Given the description of an element on the screen output the (x, y) to click on. 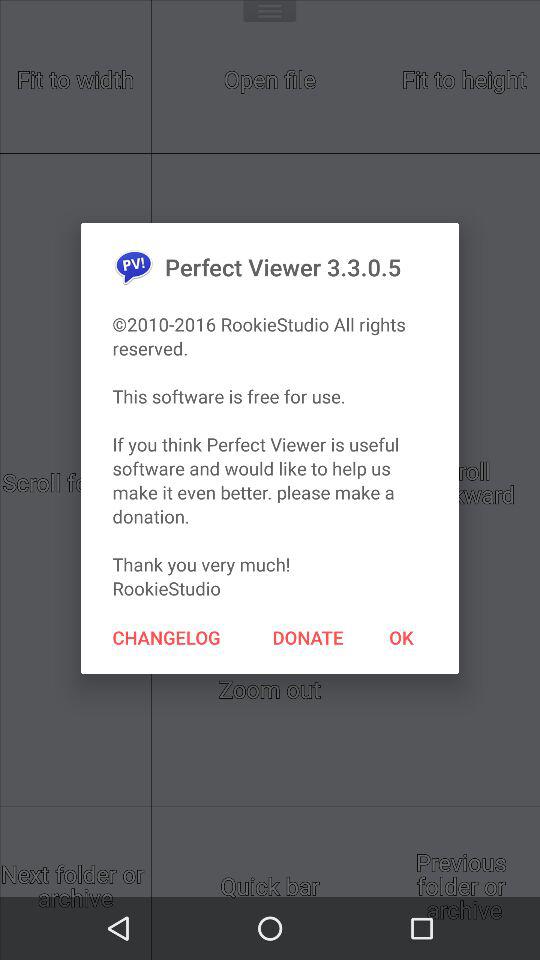
tap item to the right of the donate (401, 637)
